Given the description of an element on the screen output the (x, y) to click on. 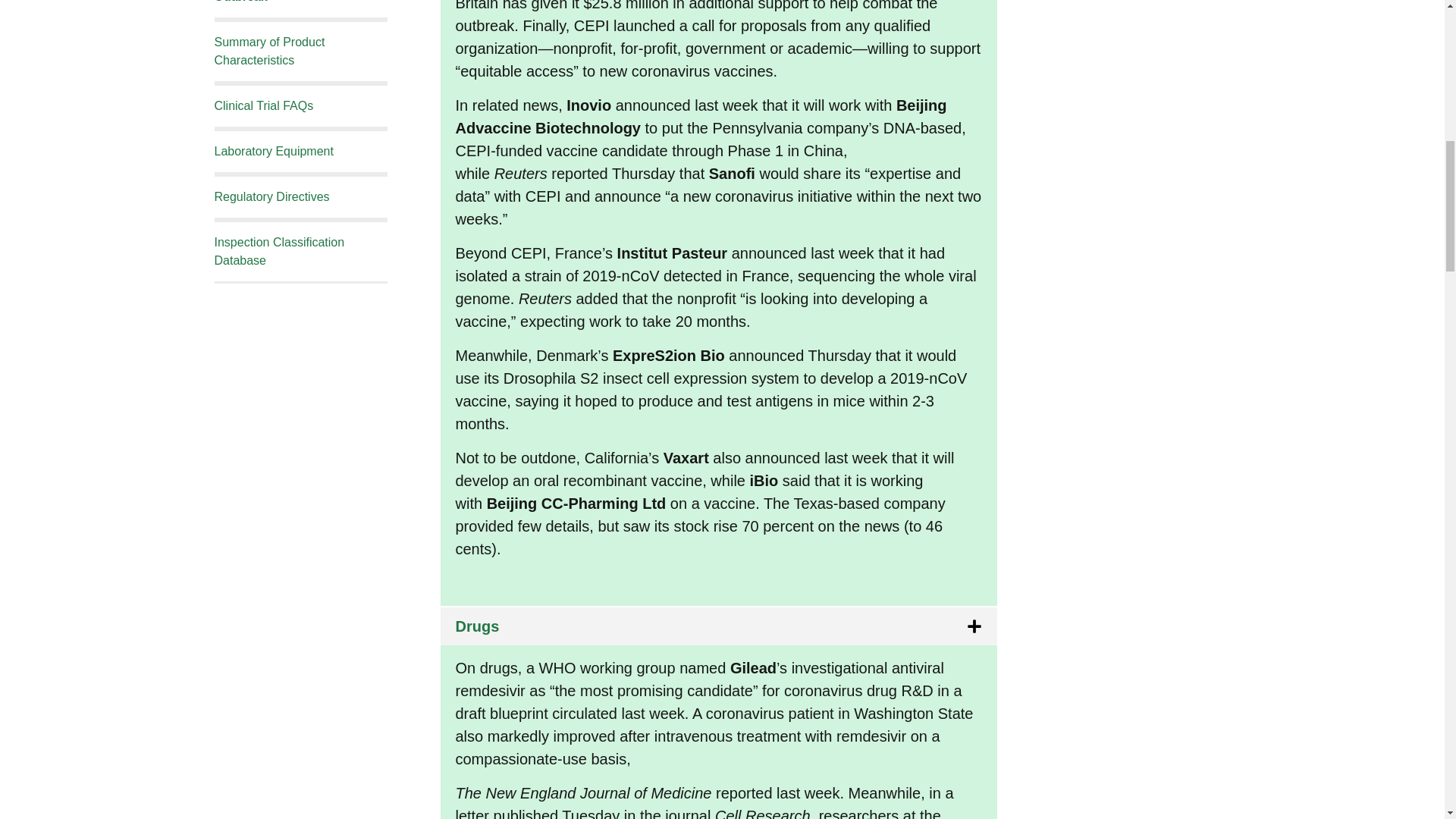
Inspection Classification Database (278, 250)
Clinical Trial FAQs (263, 105)
Laboratory Equipment (273, 151)
Regulatory Directives (271, 196)
Summary of Product Characteristics (269, 51)
